Given the description of an element on the screen output the (x, y) to click on. 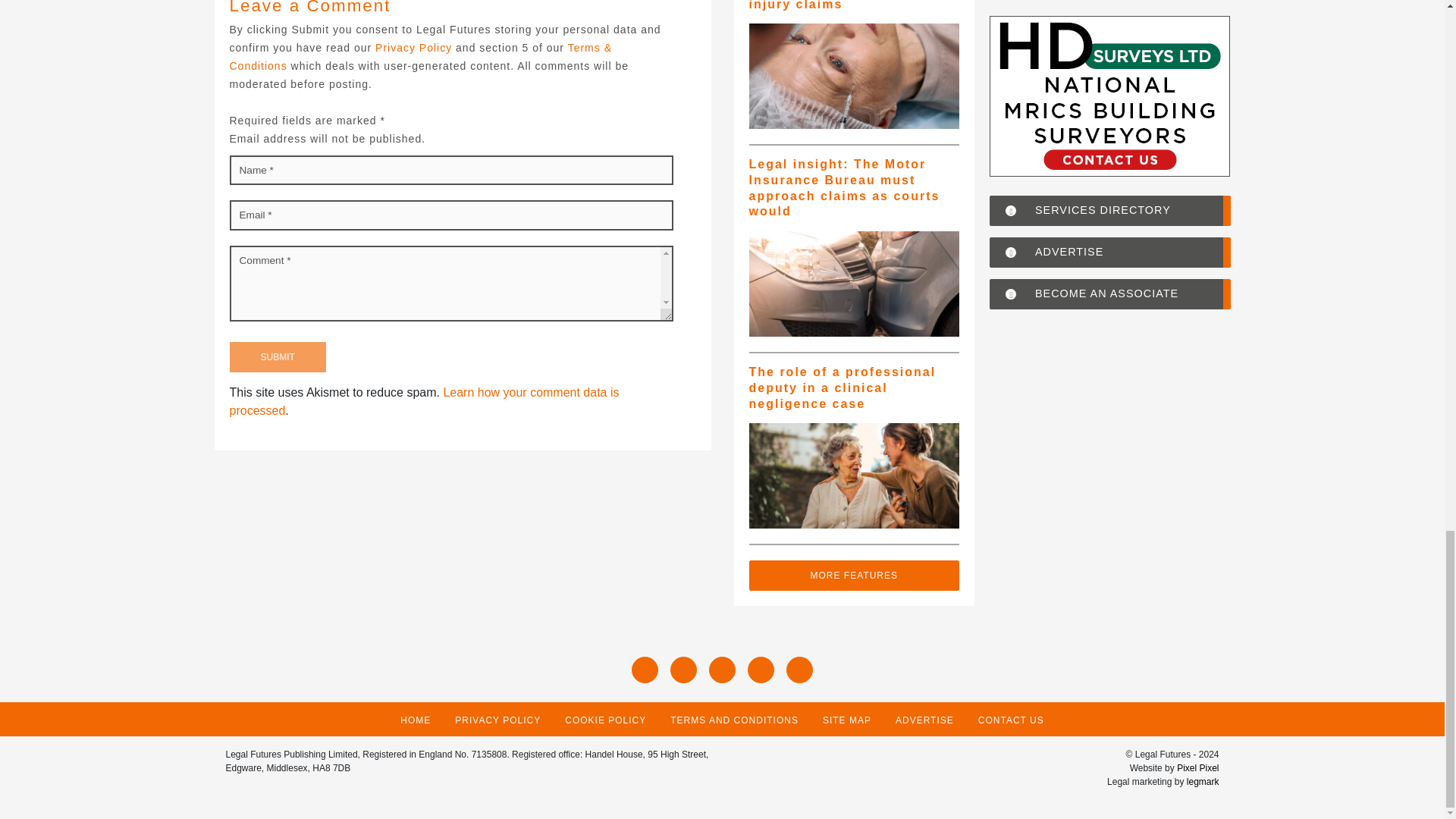
Submit (276, 357)
